Given the description of an element on the screen output the (x, y) to click on. 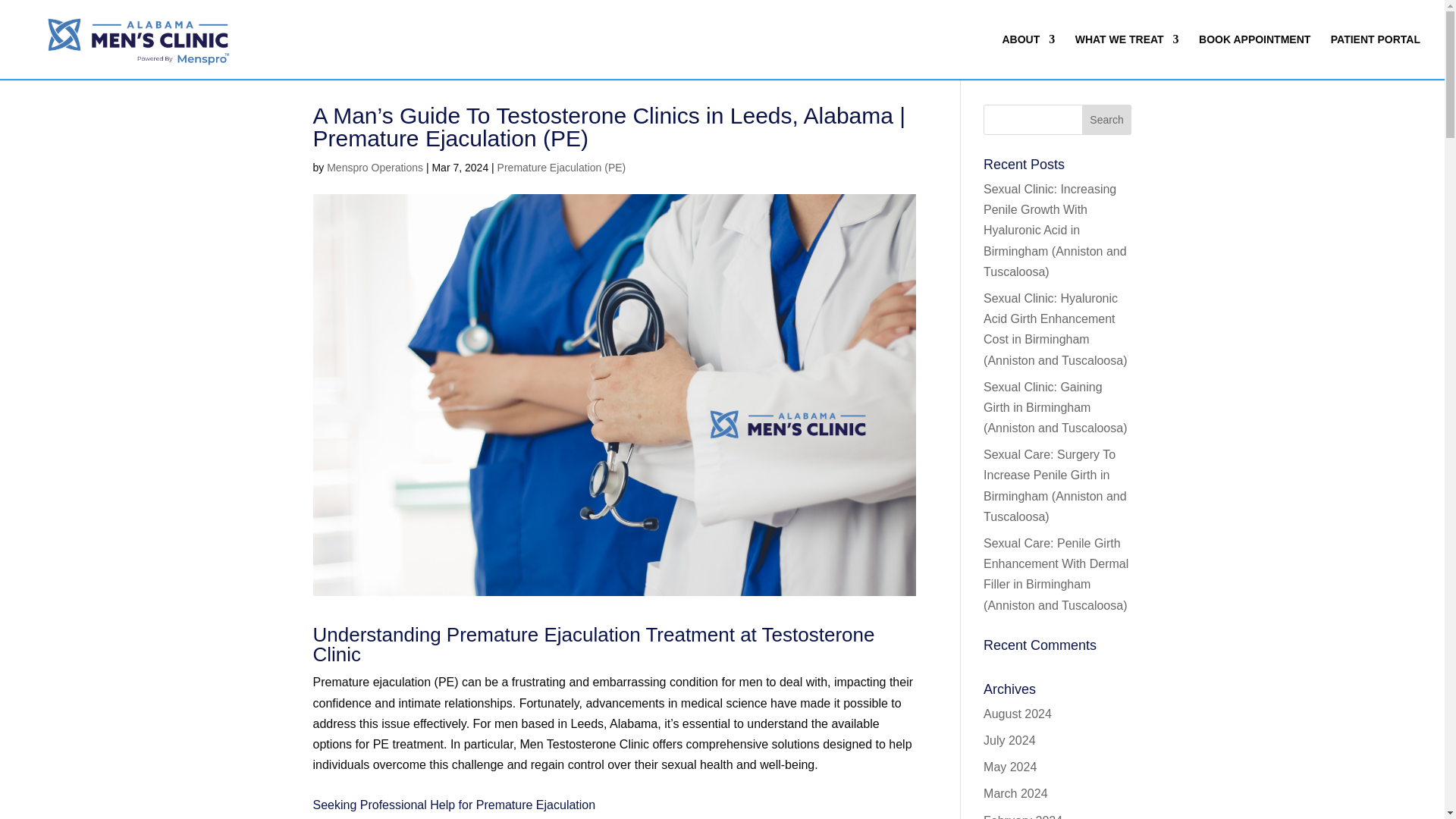
May 2024 (1010, 766)
Search (1106, 119)
Search (1106, 119)
August 2024 (1017, 713)
WHAT WE TREAT (1127, 56)
Menspro Operations (374, 167)
PATIENT PORTAL (1375, 56)
Posts by Menspro Operations (374, 167)
March 2024 (1016, 793)
BOOK APPOINTMENT (1254, 56)
